Given the description of an element on the screen output the (x, y) to click on. 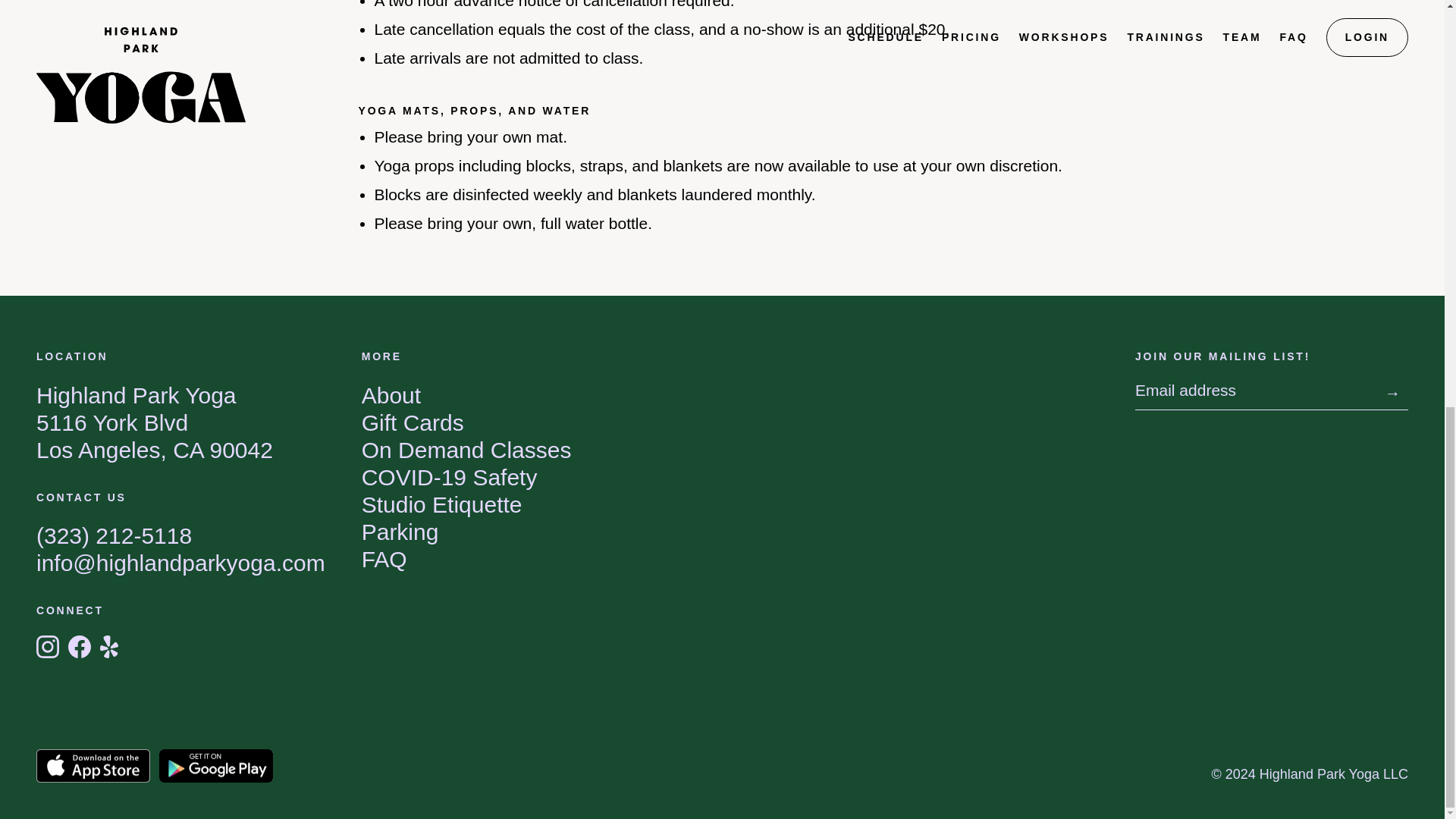
On Demand Classes (466, 449)
About (390, 395)
FAQ (384, 559)
Studio Etiquette (154, 422)
Parking (441, 504)
Gift Cards (400, 531)
COVID-19 Safety (412, 422)
